Given the description of an element on the screen output the (x, y) to click on. 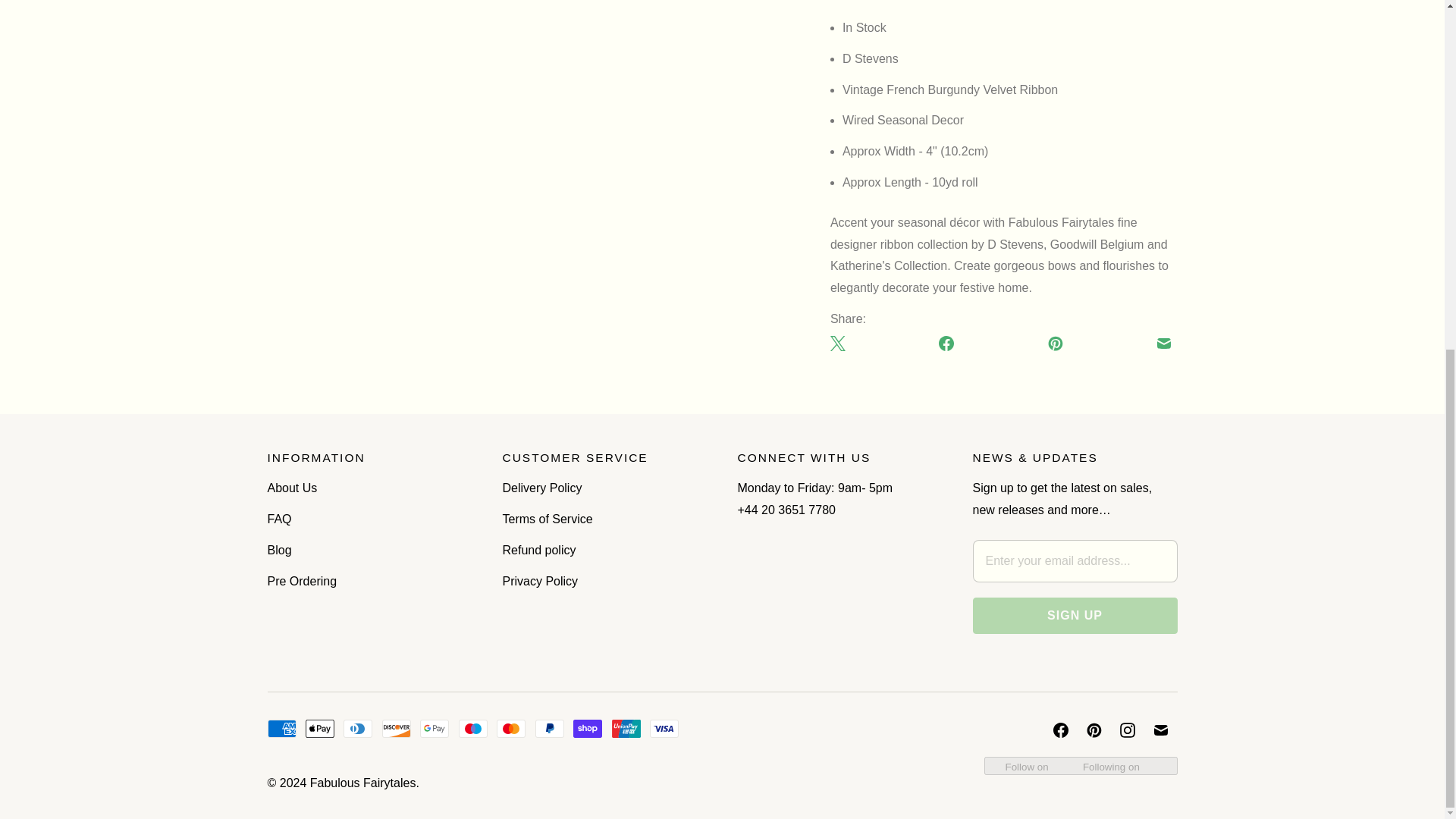
Apple Pay (319, 728)
PayPal (549, 728)
Visa (663, 728)
Union Pay (625, 728)
Share this on Facebook (946, 343)
Email this to a friend (1163, 343)
Share this on Pinterest (1055, 343)
Maestro (472, 728)
Discover (395, 728)
Shop Pay (587, 728)
